Given the description of an element on the screen output the (x, y) to click on. 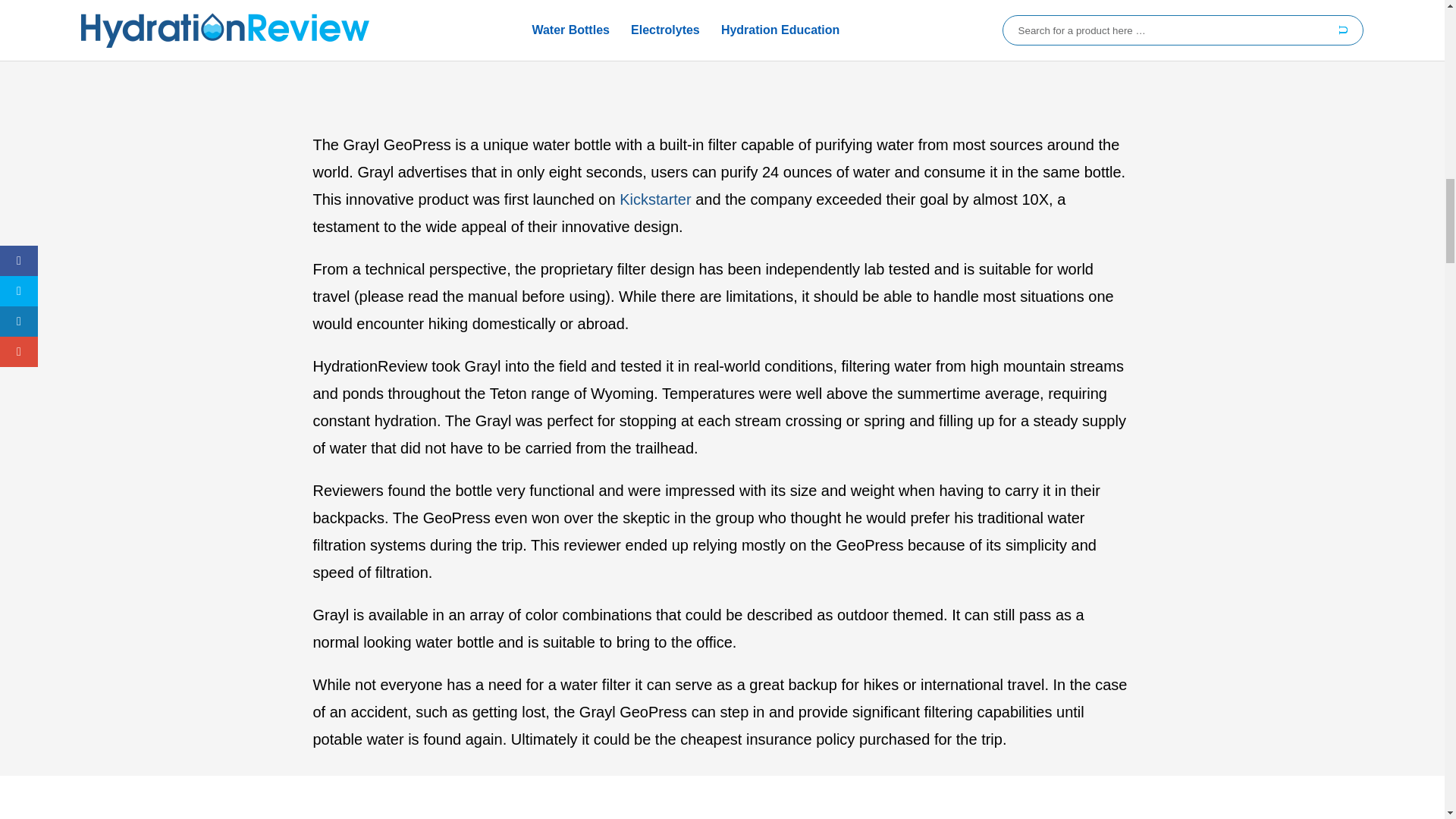
Kickstarter (657, 199)
